Given the description of an element on the screen output the (x, y) to click on. 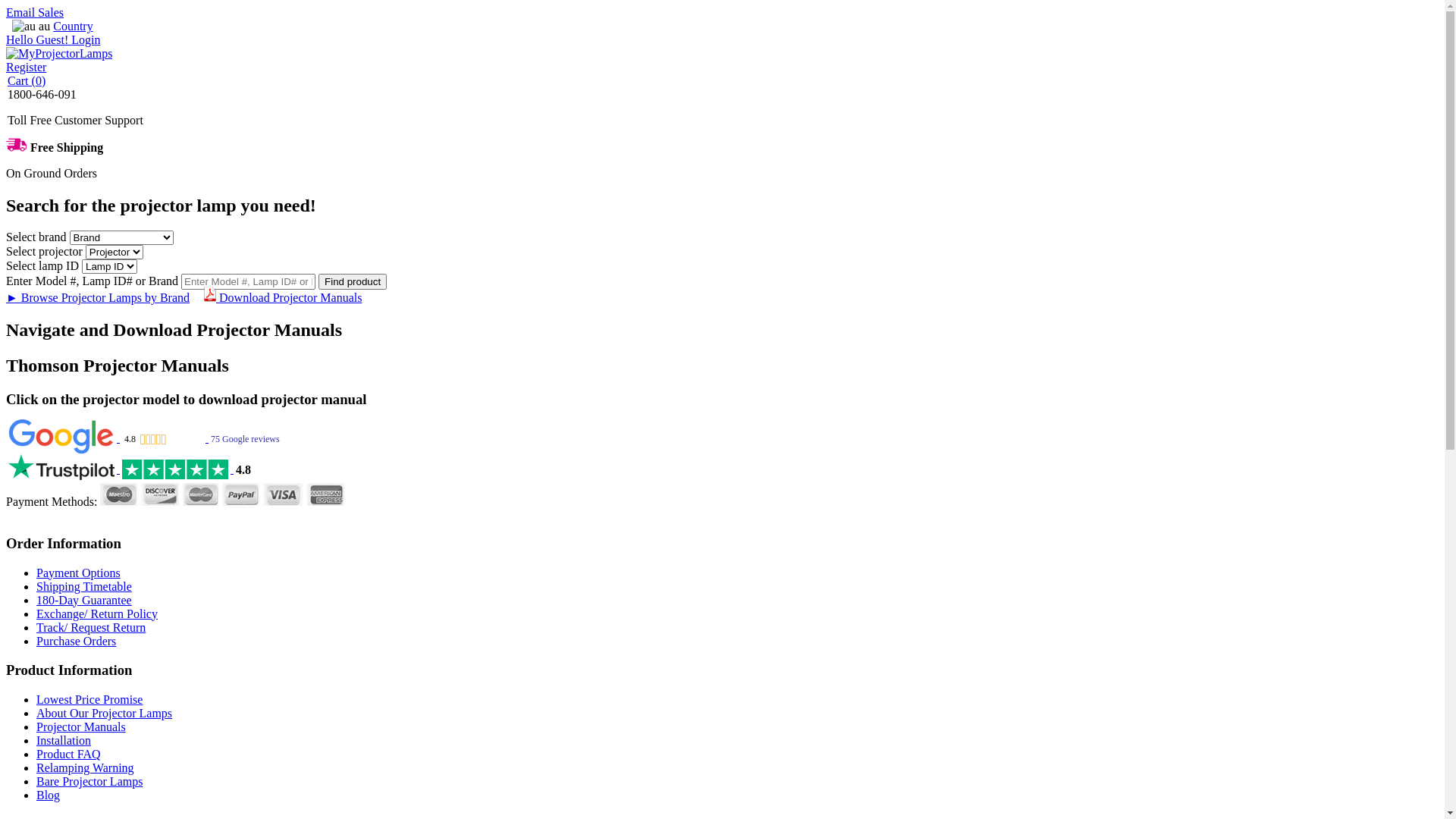
Find product Element type: text (352, 281)
Country Element type: text (72, 25)
Purchase Orders Element type: text (76, 640)
Relamping Warning Element type: text (85, 767)
Exchange/ Return Policy Element type: text (96, 613)
Product FAQ Element type: text (68, 753)
Cart (0) Element type: text (26, 80)
Email Sales Element type: text (34, 12)
Download Projector Manuals Element type: text (282, 297)
Track/ Request Return Element type: text (90, 627)
About Our Projector Lamps Element type: text (104, 712)
Login Element type: text (85, 39)
Hello Guest! Element type: text (38, 39)
MyProjectorLamps Element type: hover (59, 53)
Installation Element type: text (63, 740)
180-Day Guarantee Element type: text (83, 599)
Bare Projector Lamps Element type: text (89, 781)
Projector Manuals Element type: text (80, 726)
4.8 Element type: text (129, 468)
footer-rate Element type: hover (170, 439)
Lowest Price Promise Element type: text (89, 699)
4.8 75 Google reviews Element type: text (144, 437)
Blog Element type: text (47, 794)
Register Element type: text (26, 66)
Payment Options Element type: text (78, 572)
Shipping Timetable Element type: text (83, 586)
